Given the description of an element on the screen output the (x, y) to click on. 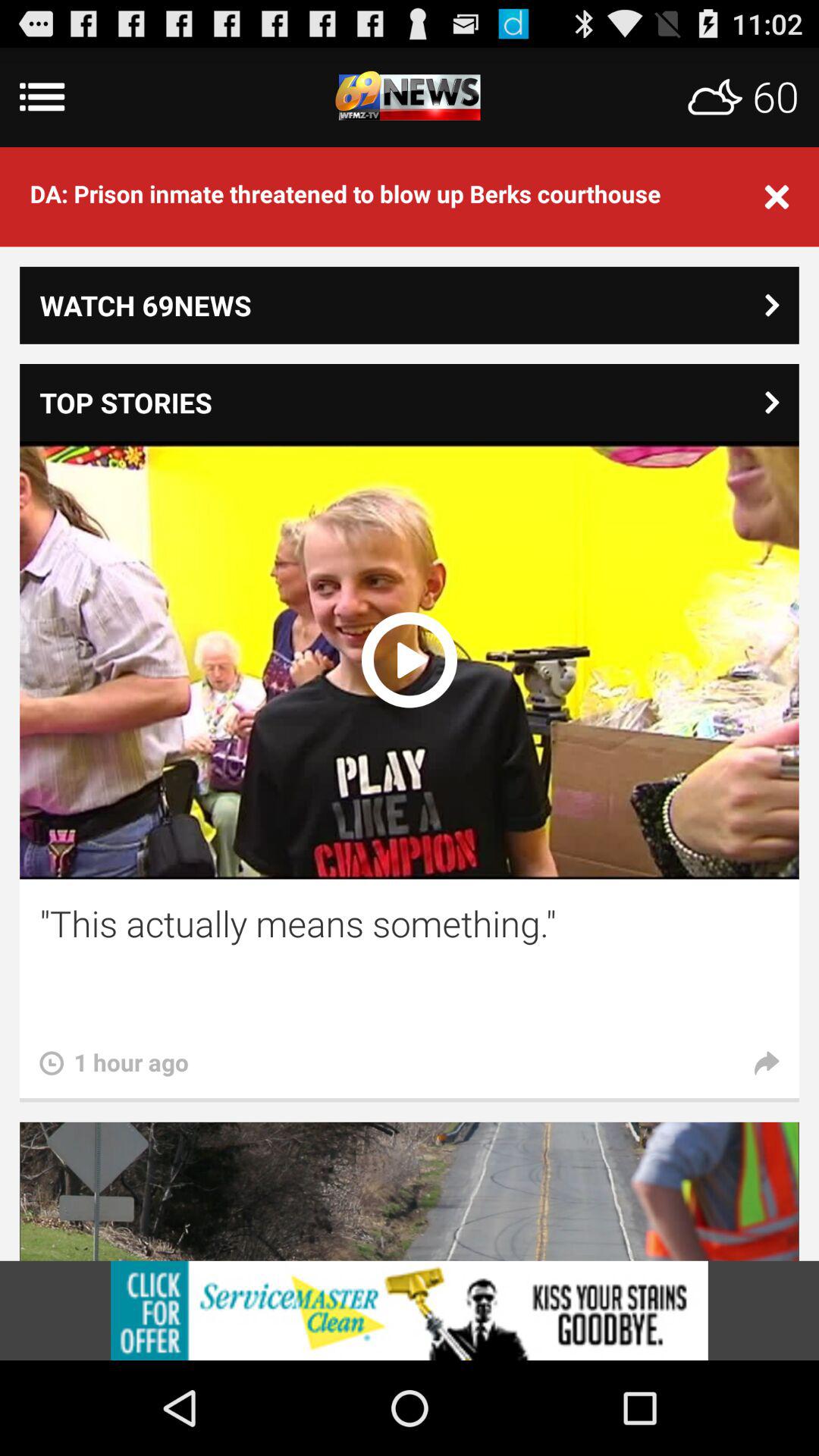
advertisement banner (409, 1310)
